Given the description of an element on the screen output the (x, y) to click on. 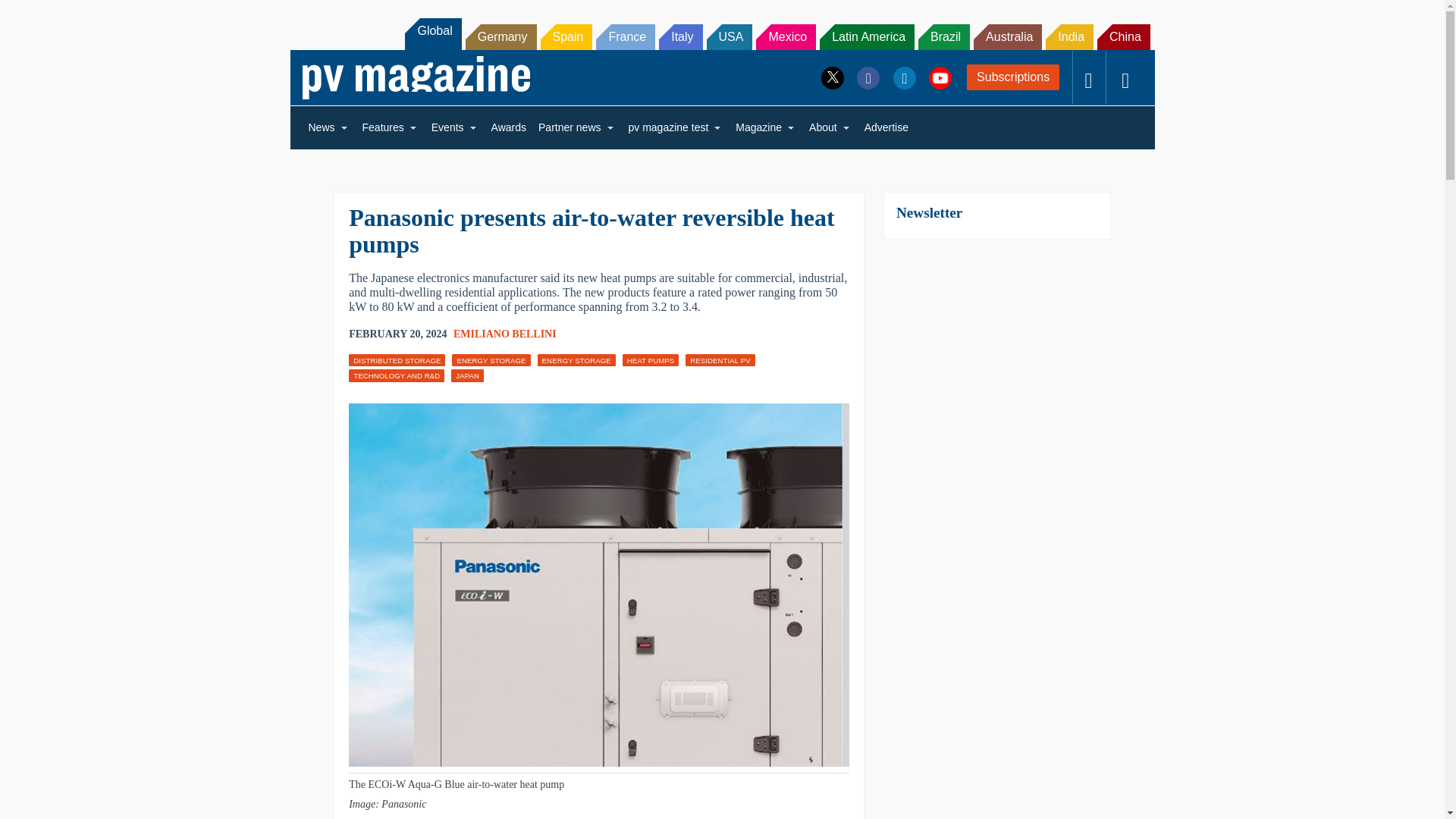
Australia (1008, 36)
pv magazine - Photovoltaics Markets and Technology (415, 77)
Spain (566, 36)
Posts by Emiliano Bellini (504, 333)
USA (729, 36)
Italy (680, 36)
Latin America (866, 36)
pv magazine - Photovoltaics Markets and Technology (415, 77)
Subscriptions (1012, 77)
Mexico (785, 36)
China (1123, 36)
India (1069, 36)
Germany (501, 36)
Global (432, 33)
Search (32, 15)
